Given the description of an element on the screen output the (x, y) to click on. 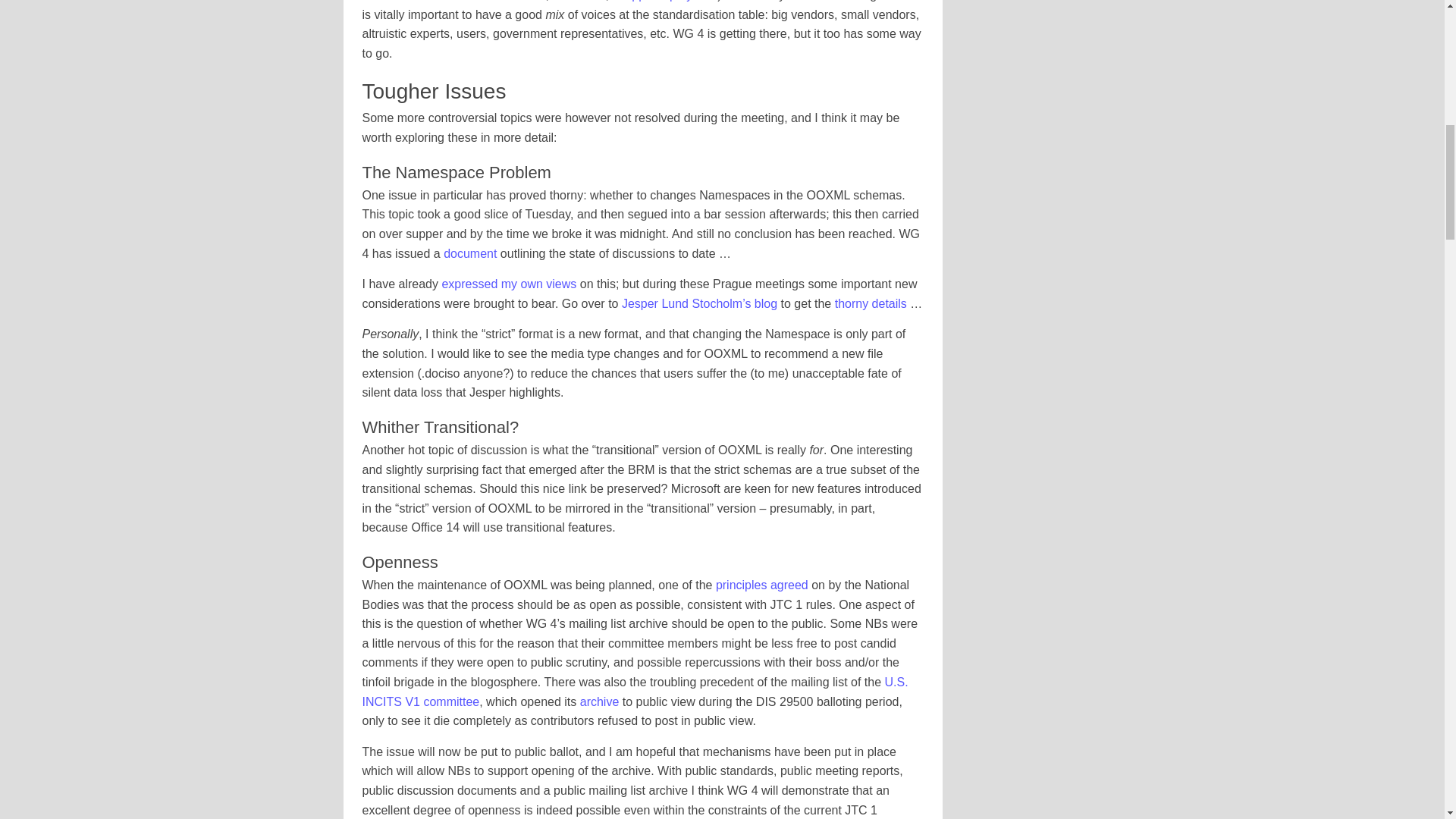
snapped-up by IBM (664, 0)
expressed my own views (508, 283)
principles agreed (762, 584)
thorny details (870, 303)
document (470, 253)
archive (599, 701)
U.S. INCITS V1 committee (635, 691)
